Given the description of an element on the screen output the (x, y) to click on. 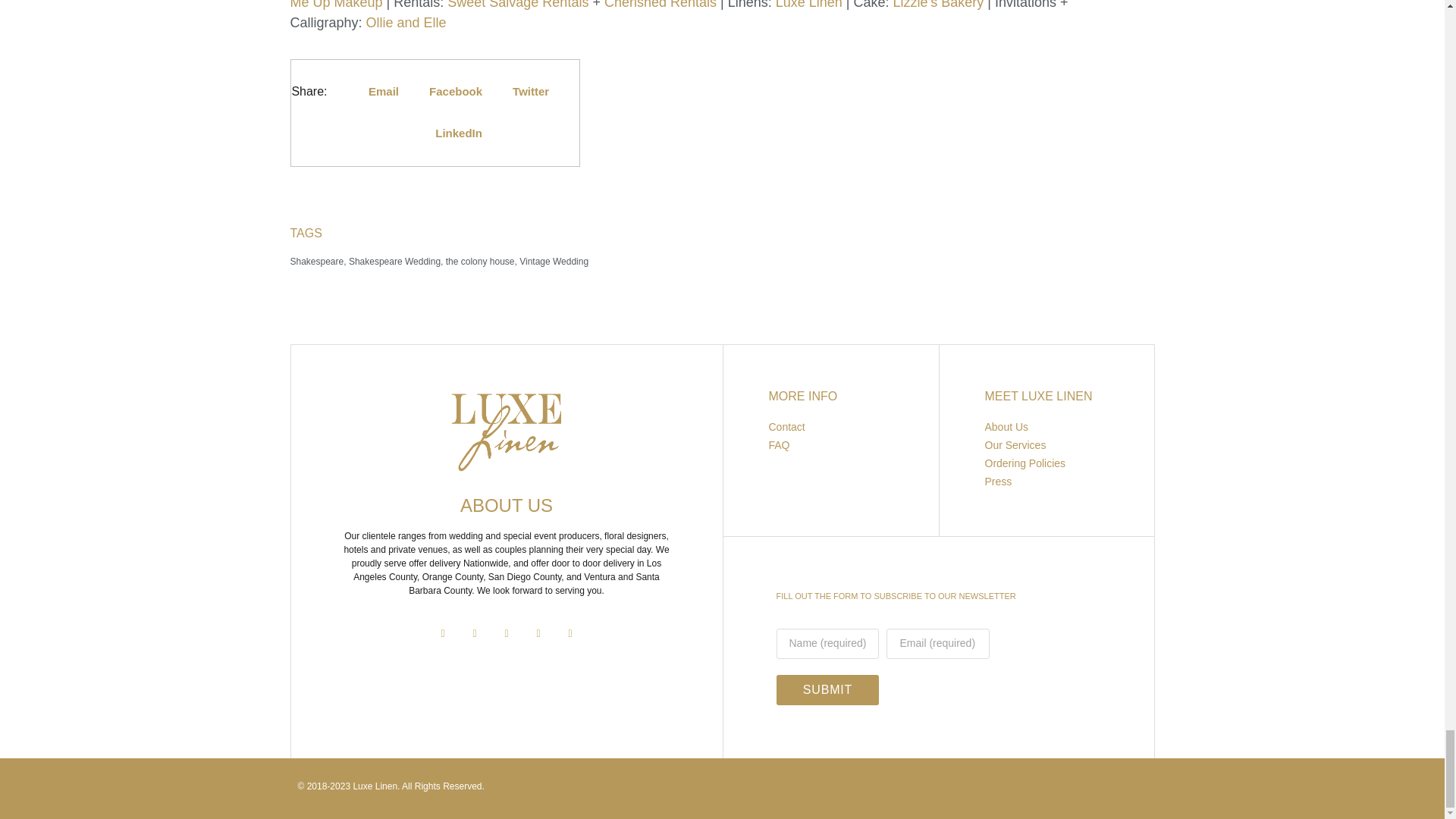
Cherished Rentals (660, 4)
Sweet Salvage Rentals (517, 4)
Rock Me Up Makeup (712, 4)
